Given the description of an element on the screen output the (x, y) to click on. 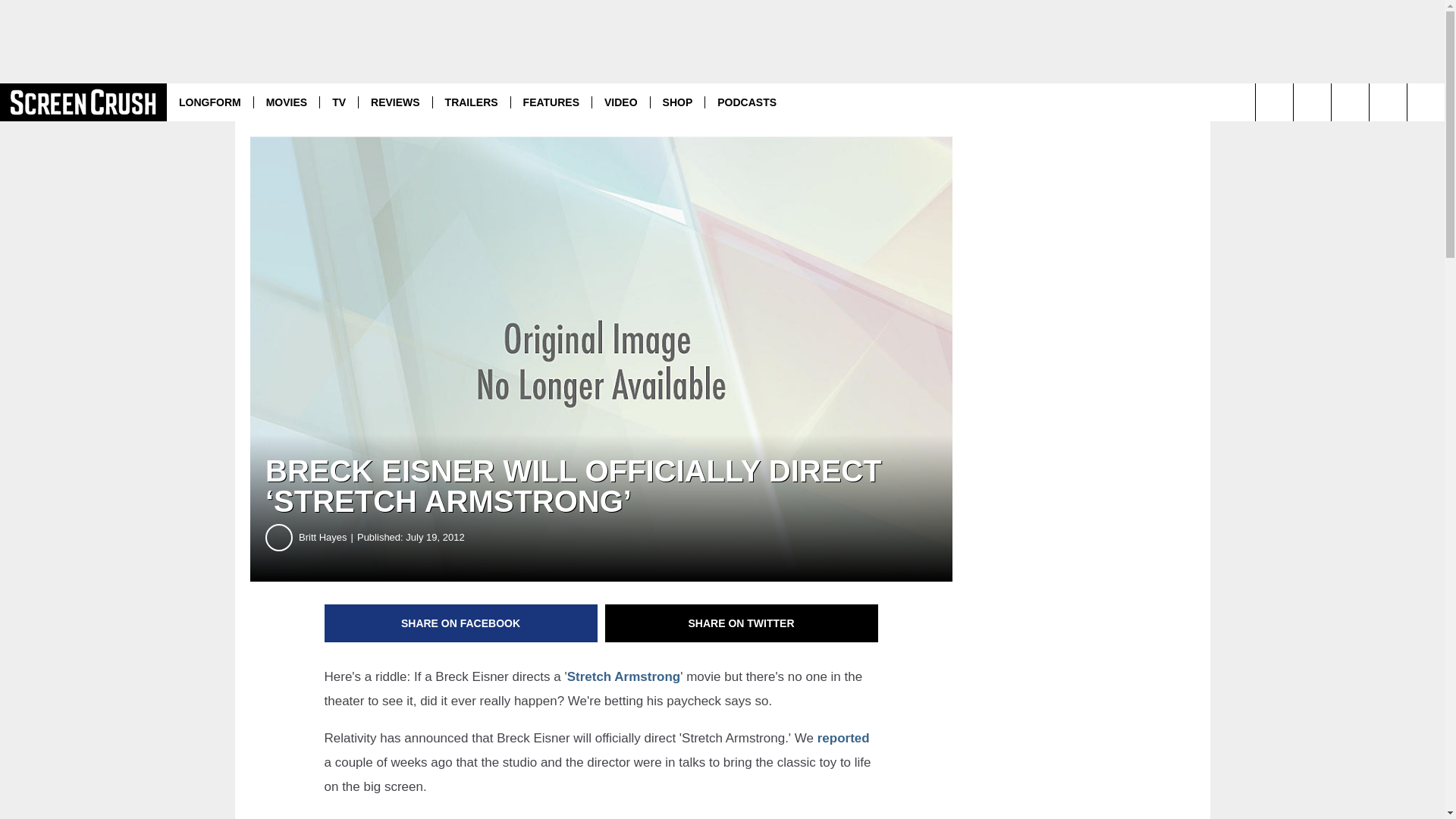
SHARE ON FACEBOOK (460, 623)
SHOP (676, 102)
PODCASTS (746, 102)
Visit us on Facebook (1388, 102)
LONGFORM (210, 102)
FEATURES (551, 102)
TRAILERS (471, 102)
VIDEO (620, 102)
Visit us on Instagram (1312, 102)
Stretch Armstrong (624, 676)
TV (338, 102)
Share on Facebook (460, 623)
REVIEWS (395, 102)
MOVIES (285, 102)
Britt Hayes (327, 537)
